Given the description of an element on the screen output the (x, y) to click on. 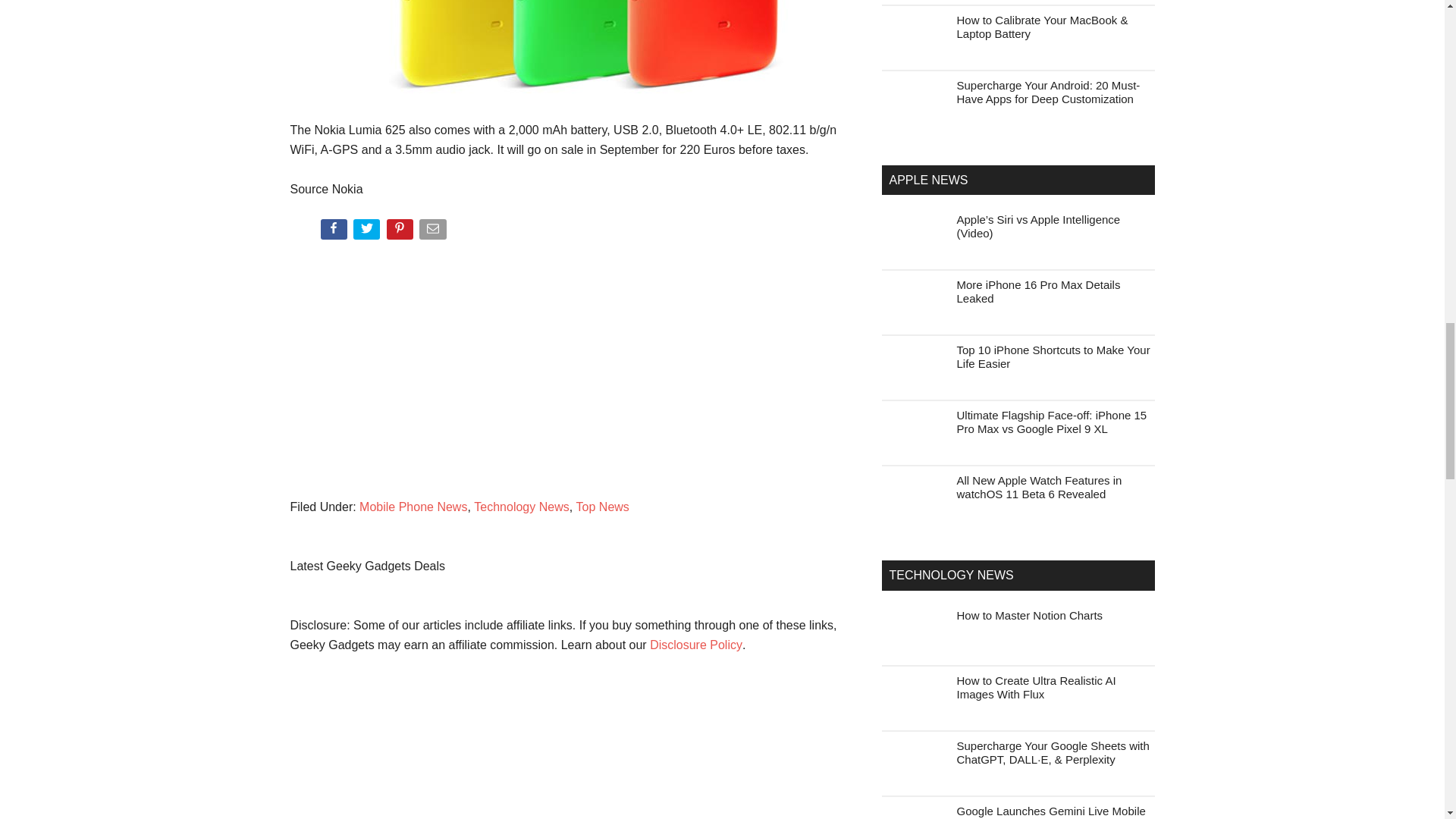
Disclosure Policy (695, 644)
Share on Facebook (334, 232)
Technology News (521, 506)
Email (433, 232)
Mobile Phone News (413, 506)
Tweet (367, 232)
Top News (602, 506)
Pin (401, 232)
